Given the description of an element on the screen output the (x, y) to click on. 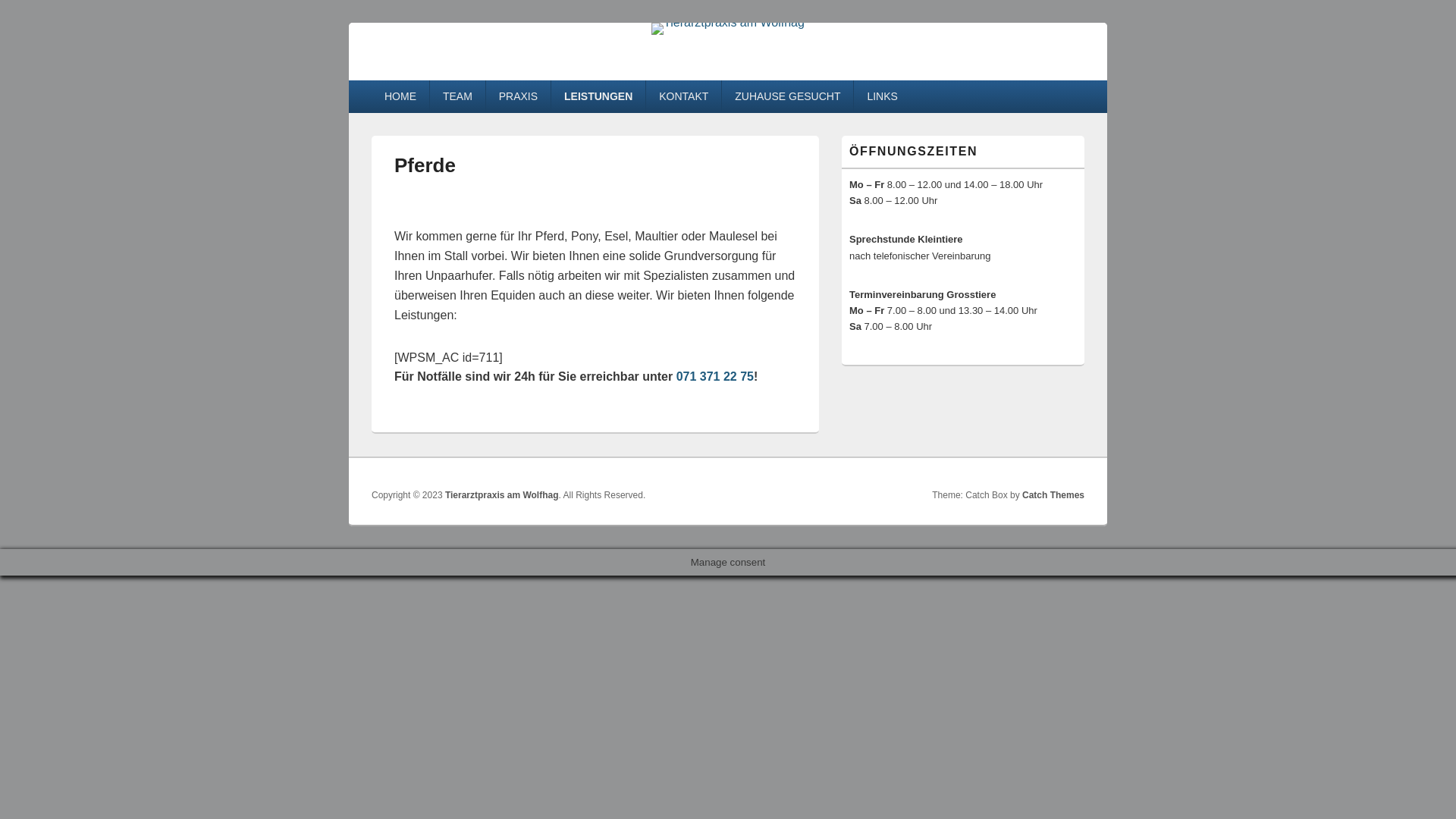
LINKS Element type: text (881, 96)
TEAM Element type: text (457, 96)
KONTAKT Element type: text (683, 96)
Tierarztpraxis am Wolfhag Element type: text (541, 74)
071 371 22 75 Element type: text (714, 376)
ZUHAUSE GESUCHT Element type: text (787, 96)
PRAXIS Element type: text (518, 96)
Catch Themes Element type: text (1053, 494)
Tierarztpraxis am Wolfhag Element type: hover (727, 21)
Tierarztpraxis am Wolfhag Element type: text (501, 494)
HOME Element type: text (400, 96)
LEISTUNGEN Element type: text (598, 96)
